Given the description of an element on the screen output the (x, y) to click on. 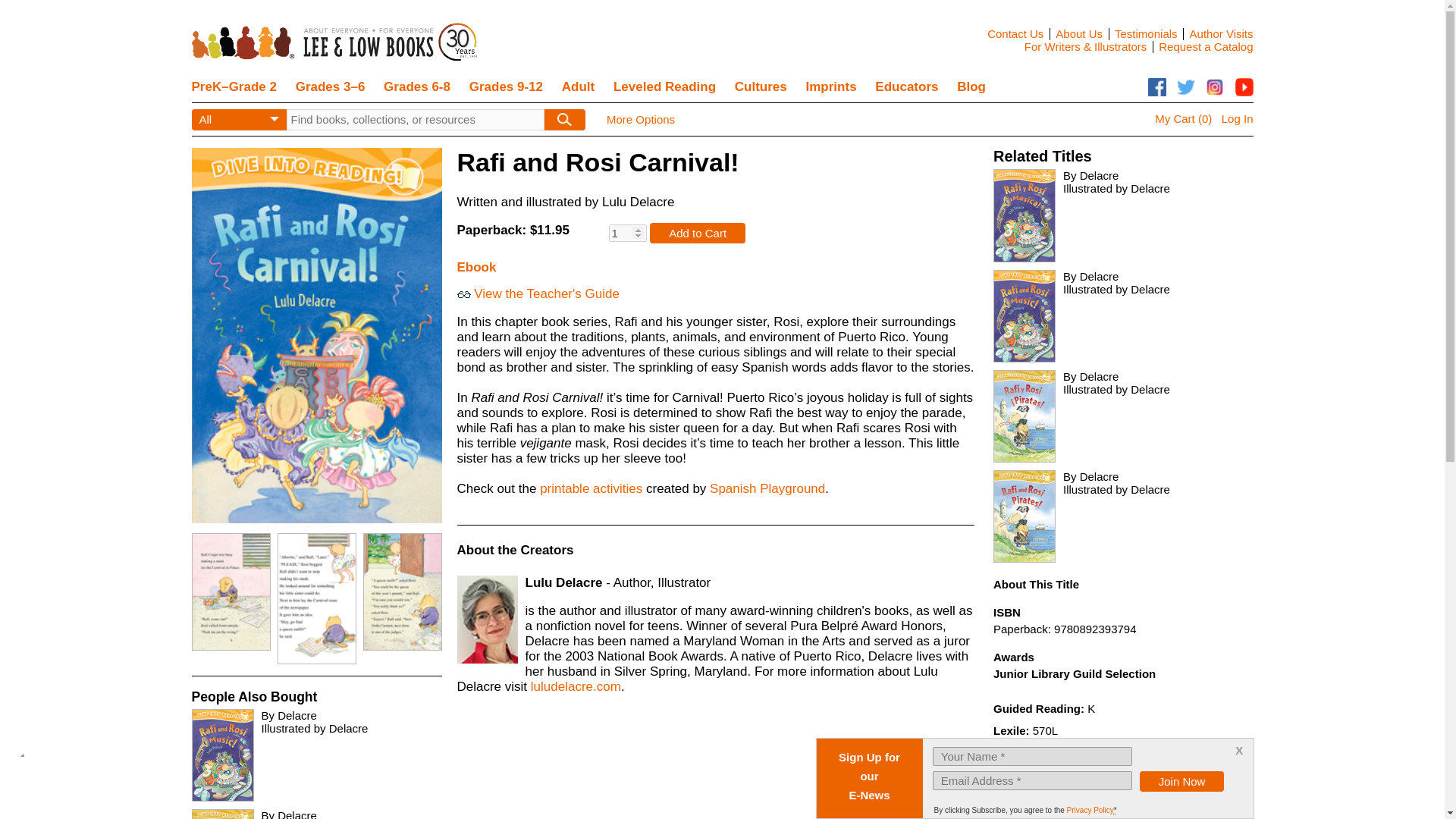
Grades 6-8 (416, 87)
Accessibility Menu (47, 780)
Request a Catalog (1205, 46)
Add to Cart (697, 232)
1 (627, 232)
Testimonials (1146, 33)
Contact Us (1015, 33)
Join Now (1182, 781)
Author Visits (1221, 33)
Accessibility Menu (43, 776)
About Us (1078, 33)
